Given the description of an element on the screen output the (x, y) to click on. 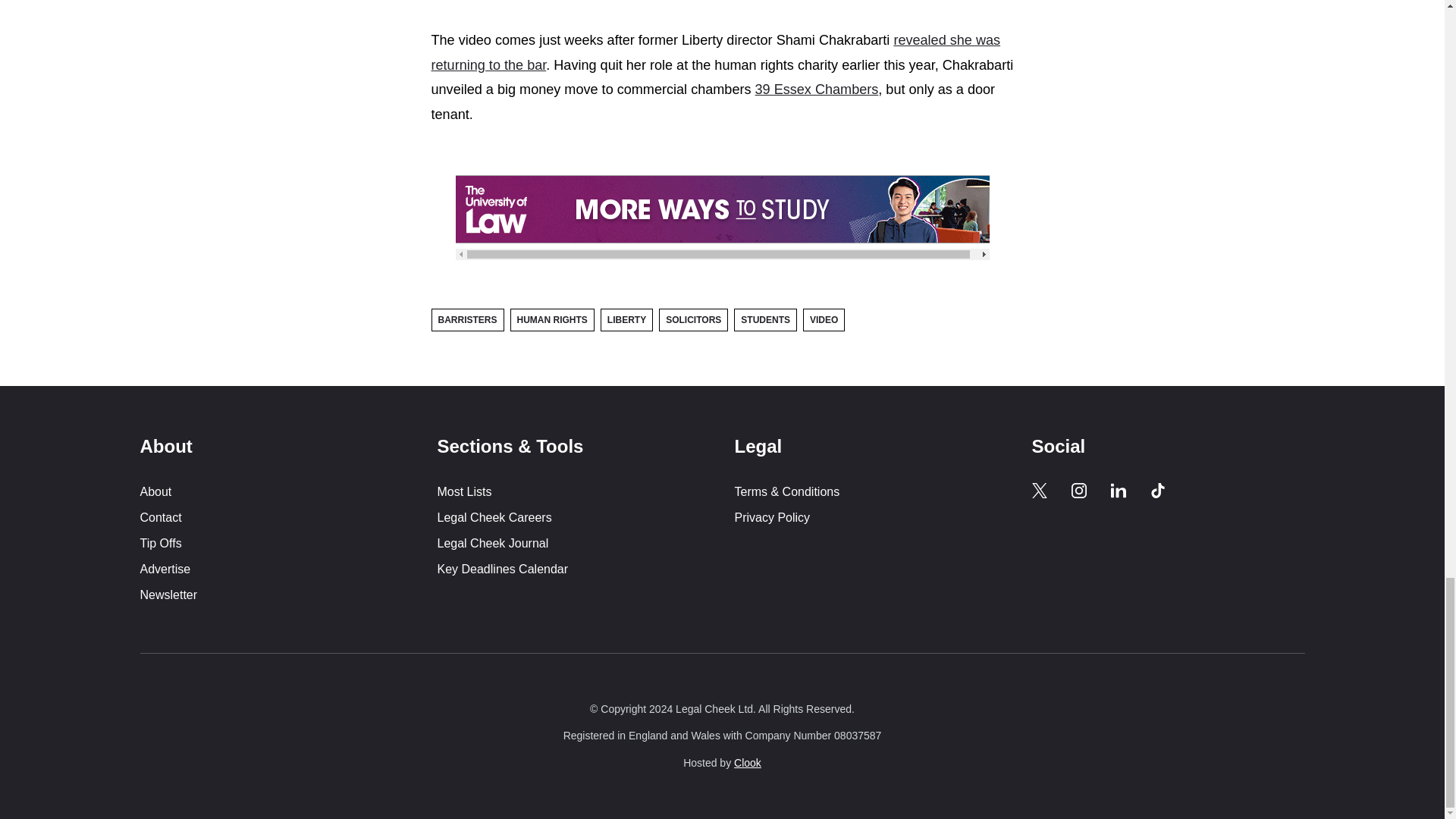
Legal Cheek LinkedIn (1117, 490)
39 Essex Chambers (817, 89)
HUMAN RIGHTS (552, 319)
revealed she was returning to the bar (715, 52)
Legal Cheek Twitter (1038, 490)
Legal Cheek Instagram (1078, 490)
LIBERTY (625, 319)
Legal Cheek Tik Tok (1157, 490)
advertisement (721, 209)
BARRISTERS (466, 319)
